Given the description of an element on the screen output the (x, y) to click on. 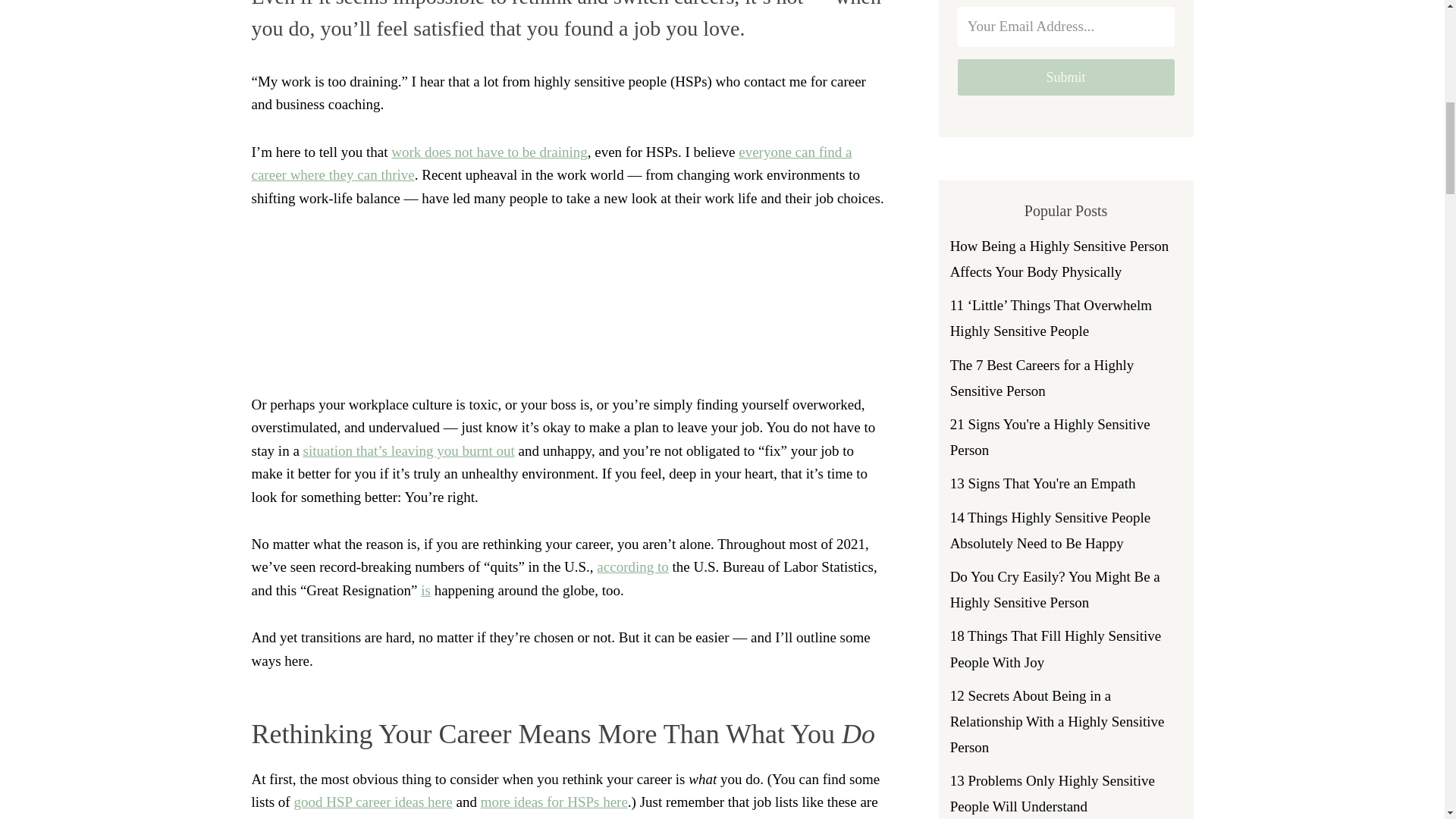
according to (632, 566)
work does not have to be draining (489, 151)
everyone can find a career where they can thrive (551, 163)
